Given the description of an element on the screen output the (x, y) to click on. 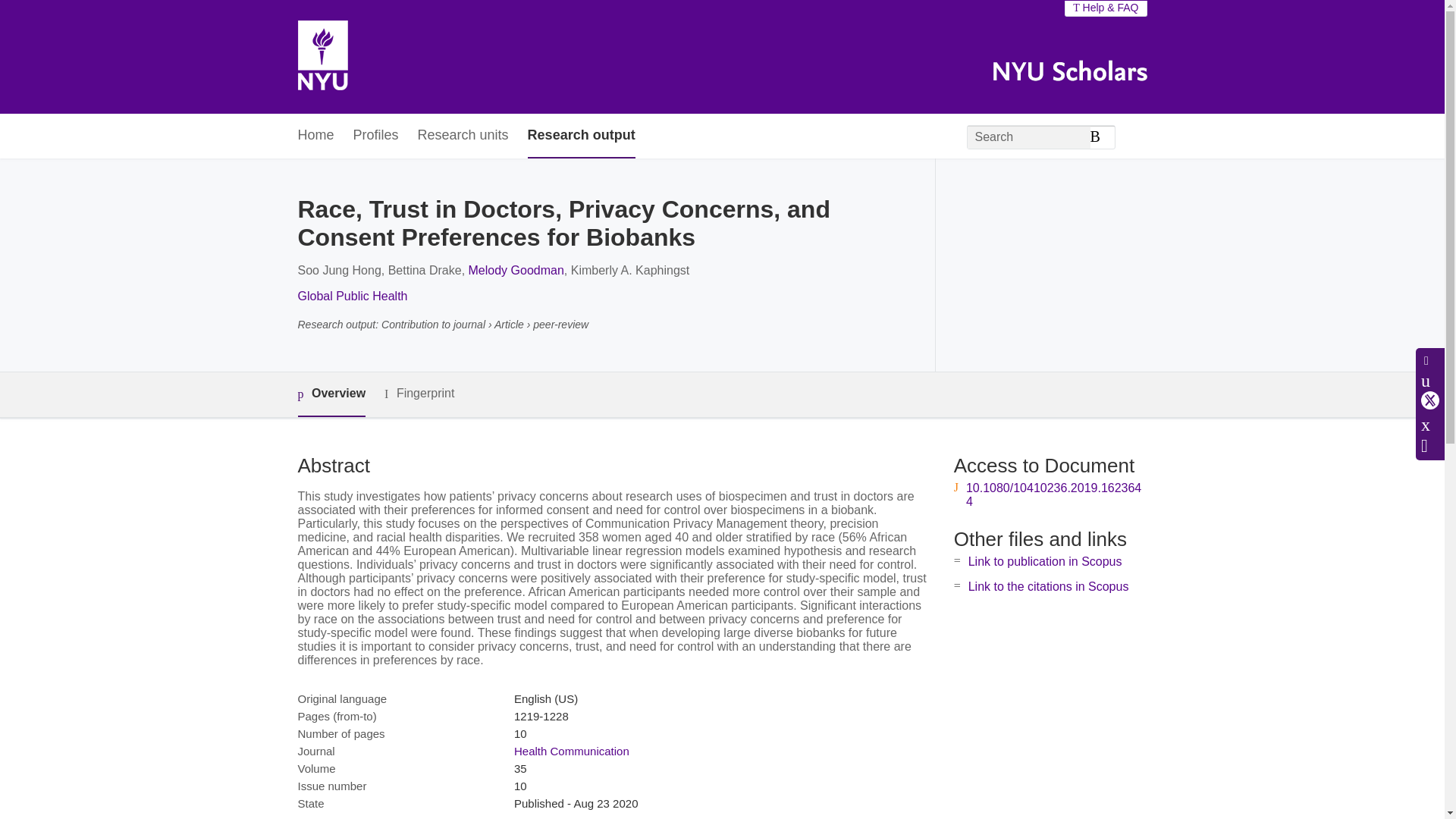
Research units (462, 135)
Research output (580, 135)
Melody Goodman (516, 269)
Health Communication (570, 750)
Fingerprint (419, 393)
Profiles (375, 135)
Link to the citations in Scopus (1048, 585)
Global Public Health (352, 295)
Link to publication in Scopus (1045, 561)
Overview (331, 394)
